Given the description of an element on the screen output the (x, y) to click on. 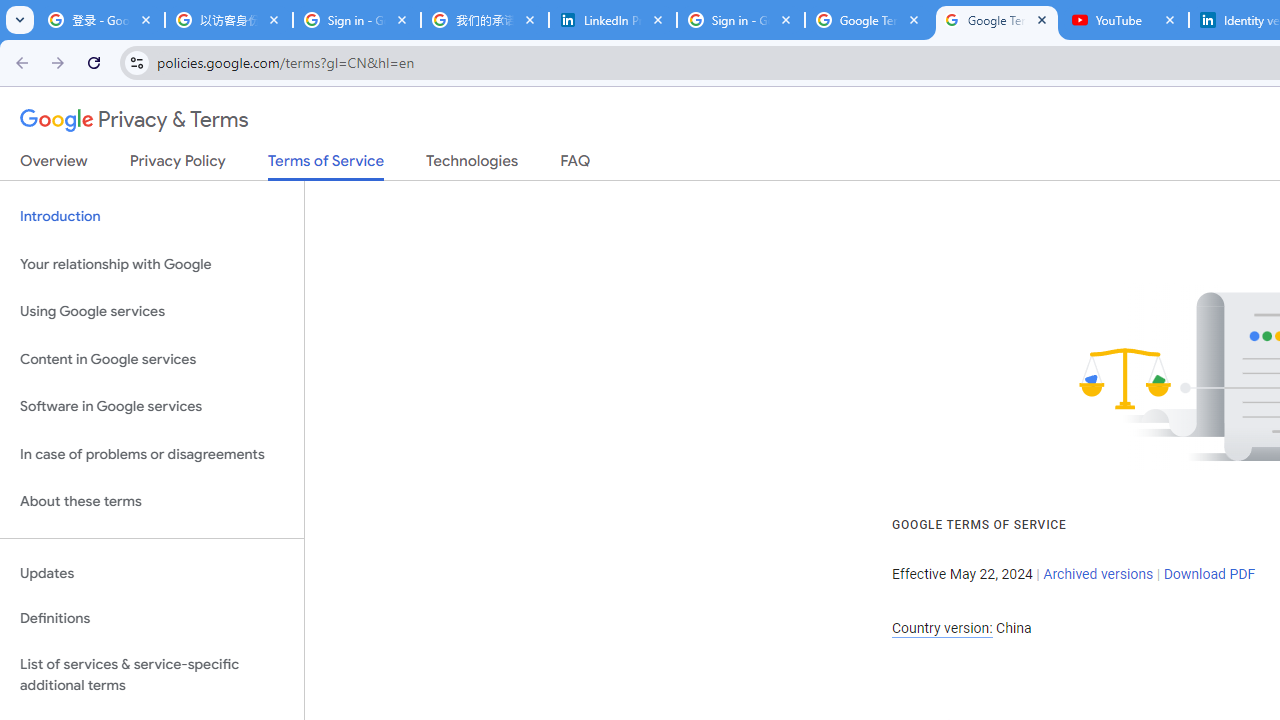
Sign in - Google Accounts (741, 20)
Overview (54, 165)
System (10, 11)
Search tabs (20, 20)
Introduction (152, 216)
FAQ (575, 165)
Content in Google services (152, 358)
